Given the description of an element on the screen output the (x, y) to click on. 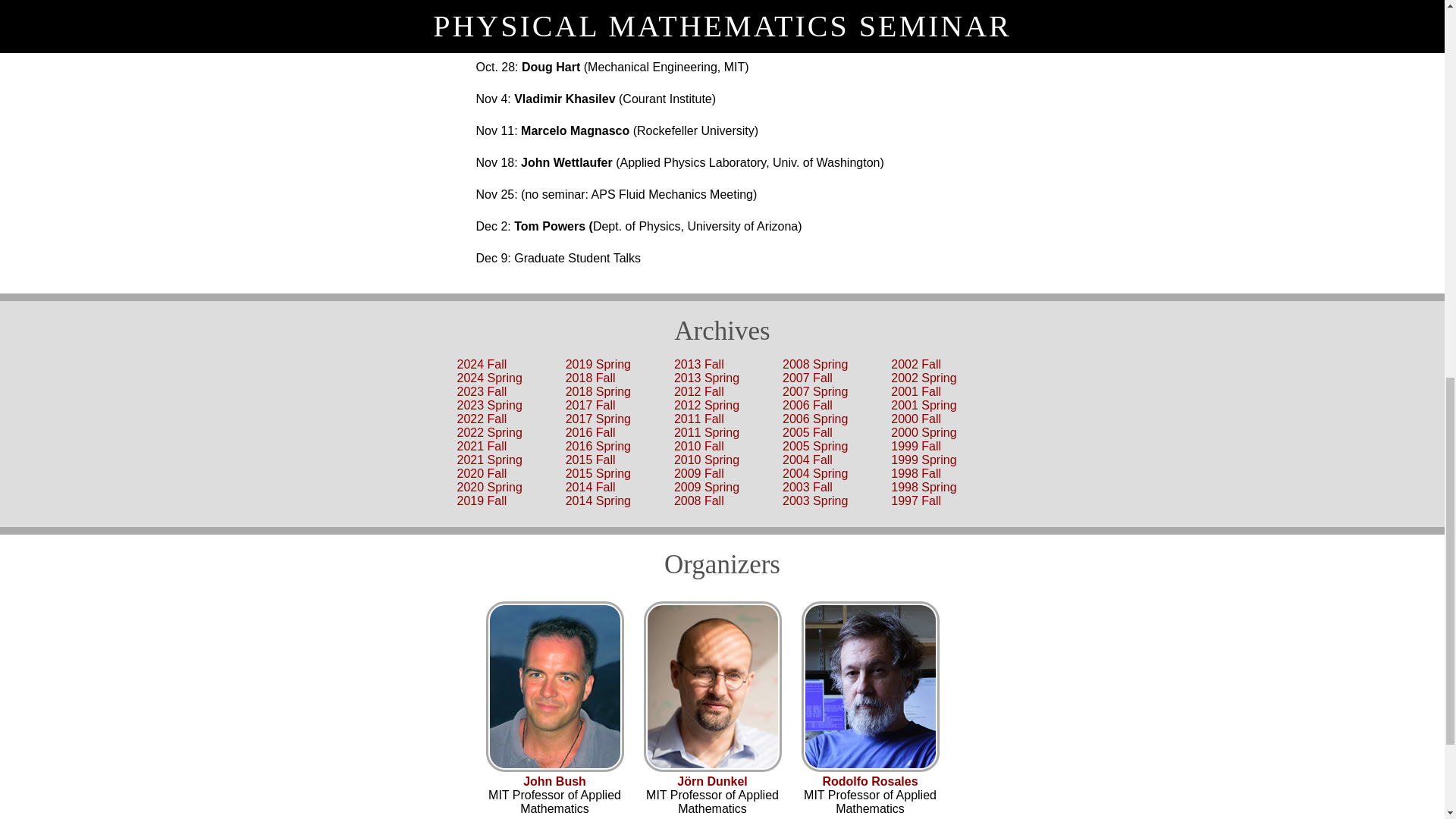
2008 Fall (698, 500)
2020 Spring (489, 486)
2021 Spring (489, 459)
2019 Spring (598, 364)
2021 Fall (481, 445)
2010 Spring (706, 459)
2015 Spring (598, 472)
2014 Spring (598, 500)
2022 Fall (481, 418)
2014 Fall (590, 486)
